Given the description of an element on the screen output the (x, y) to click on. 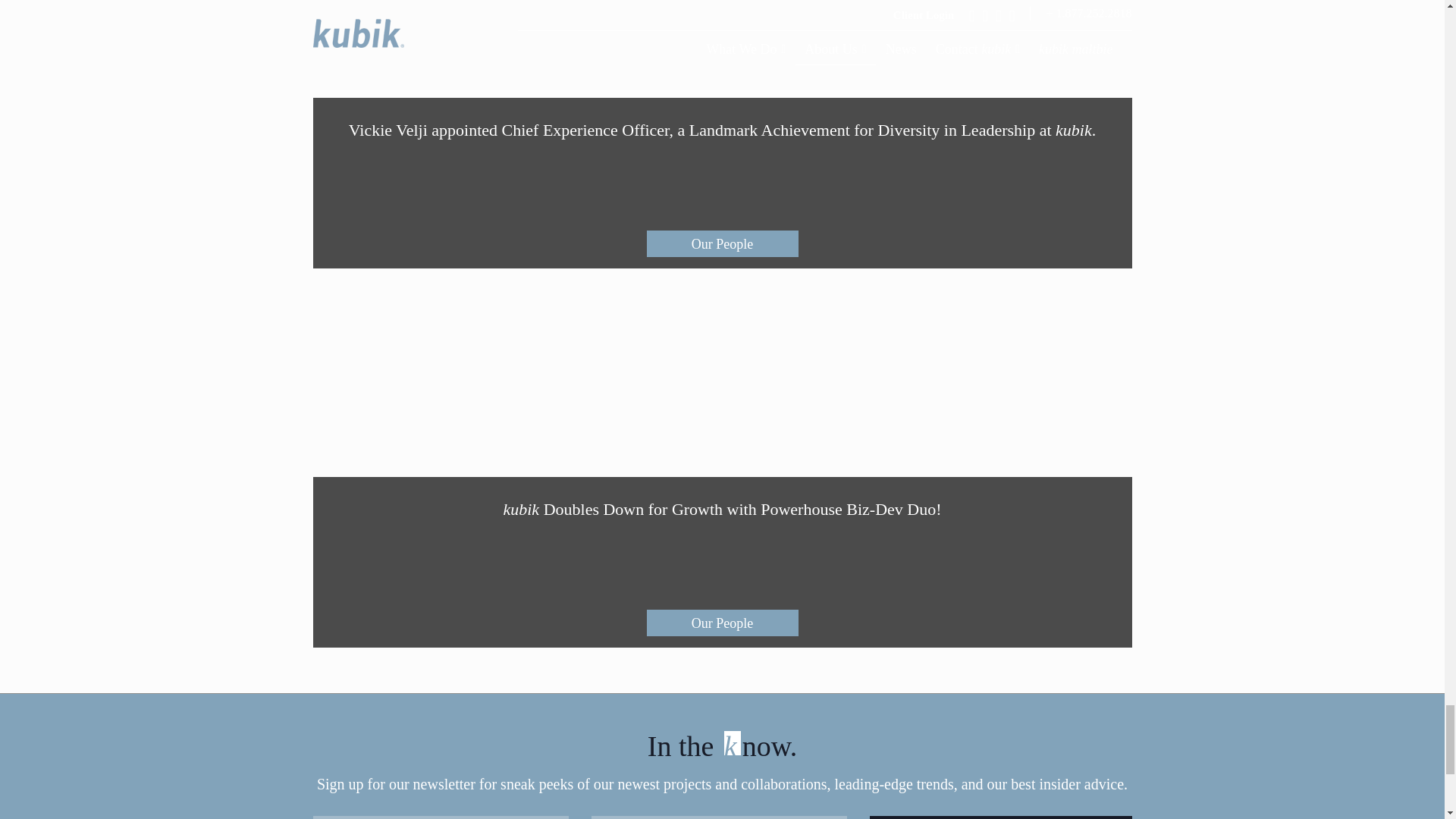
Submit (1000, 817)
Submit (1000, 817)
